Given the description of an element on the screen output the (x, y) to click on. 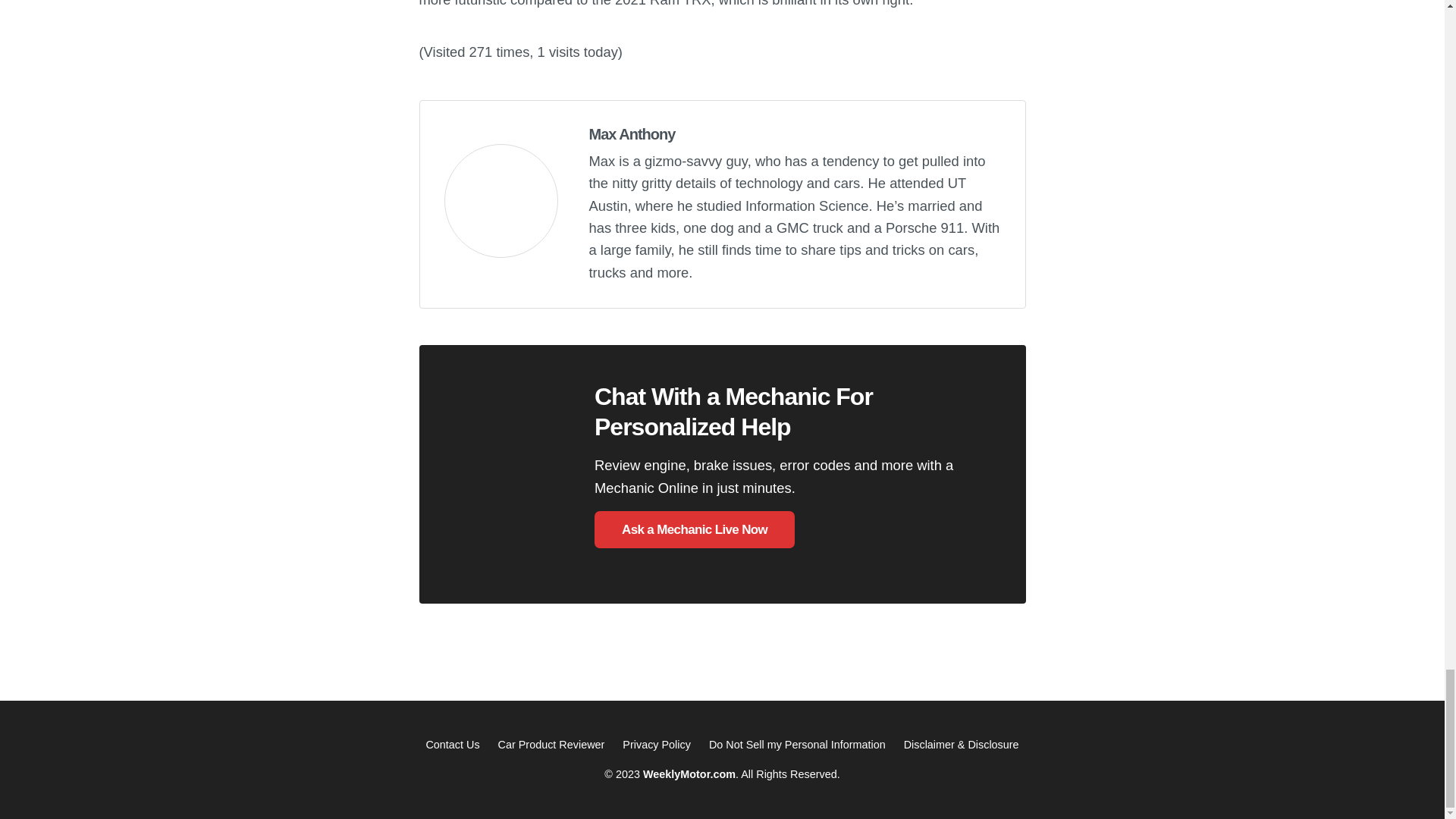
Car Product Reviewer (551, 744)
Do Not Sell my Personal Information (797, 744)
Ask a Mechanic Live Now (694, 529)
Privacy Policy (656, 744)
Contact Us (452, 744)
WeeklyMotor.com (689, 774)
